Given the description of an element on the screen output the (x, y) to click on. 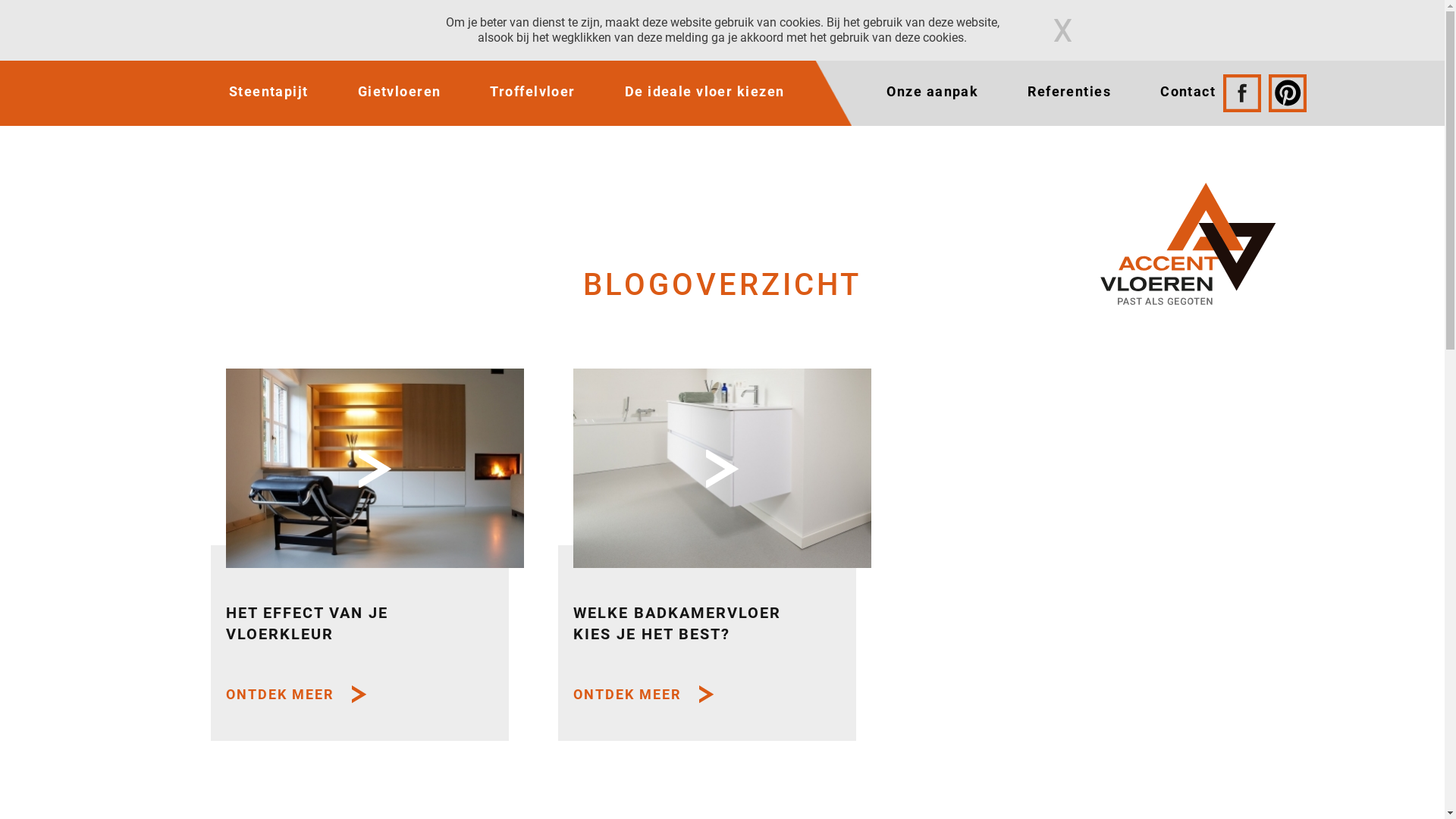
Onze aanpak Element type: text (932, 91)
Referenties Element type: text (1068, 91)
Contact Element type: text (1187, 91)
De ideale vloer kiezen Element type: text (704, 91)
Steentapijt Element type: text (268, 91)
Troffelvloer Element type: text (531, 91)
ONTDEK MEER Element type: text (295, 693)
ONTDEK MEER Element type: text (643, 693)
Gietvloeren Element type: text (399, 91)
